Given the description of an element on the screen output the (x, y) to click on. 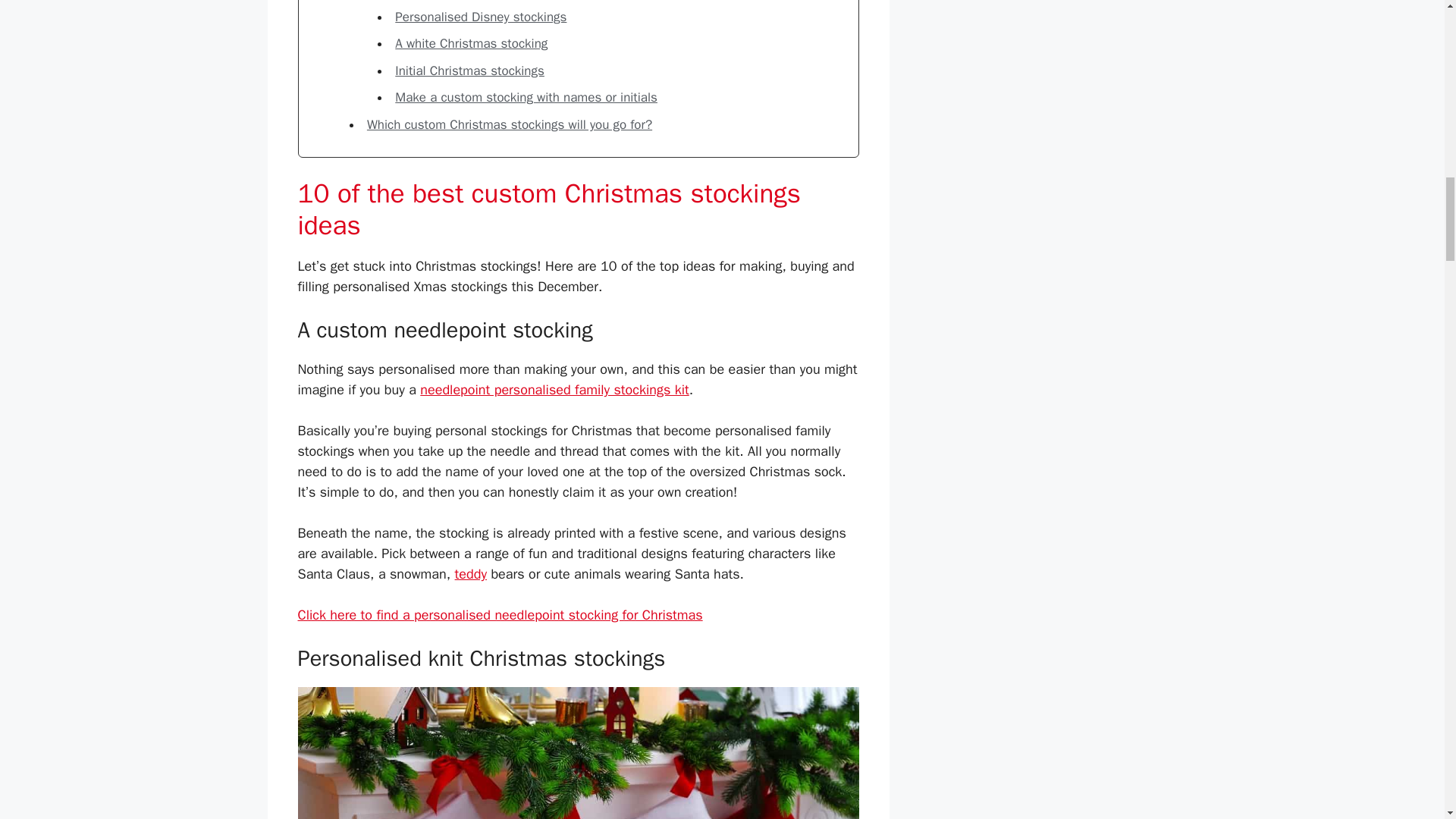
Personalised Disney stockings (480, 17)
Which custom Christmas stockings will you go for? (509, 124)
A white Christmas stocking (470, 43)
Initial Christmas stockings (469, 70)
needlepoint personalised family stockings kit (554, 389)
teddy (470, 573)
Make a custom stocking with names or initials (526, 97)
